Given the description of an element on the screen output the (x, y) to click on. 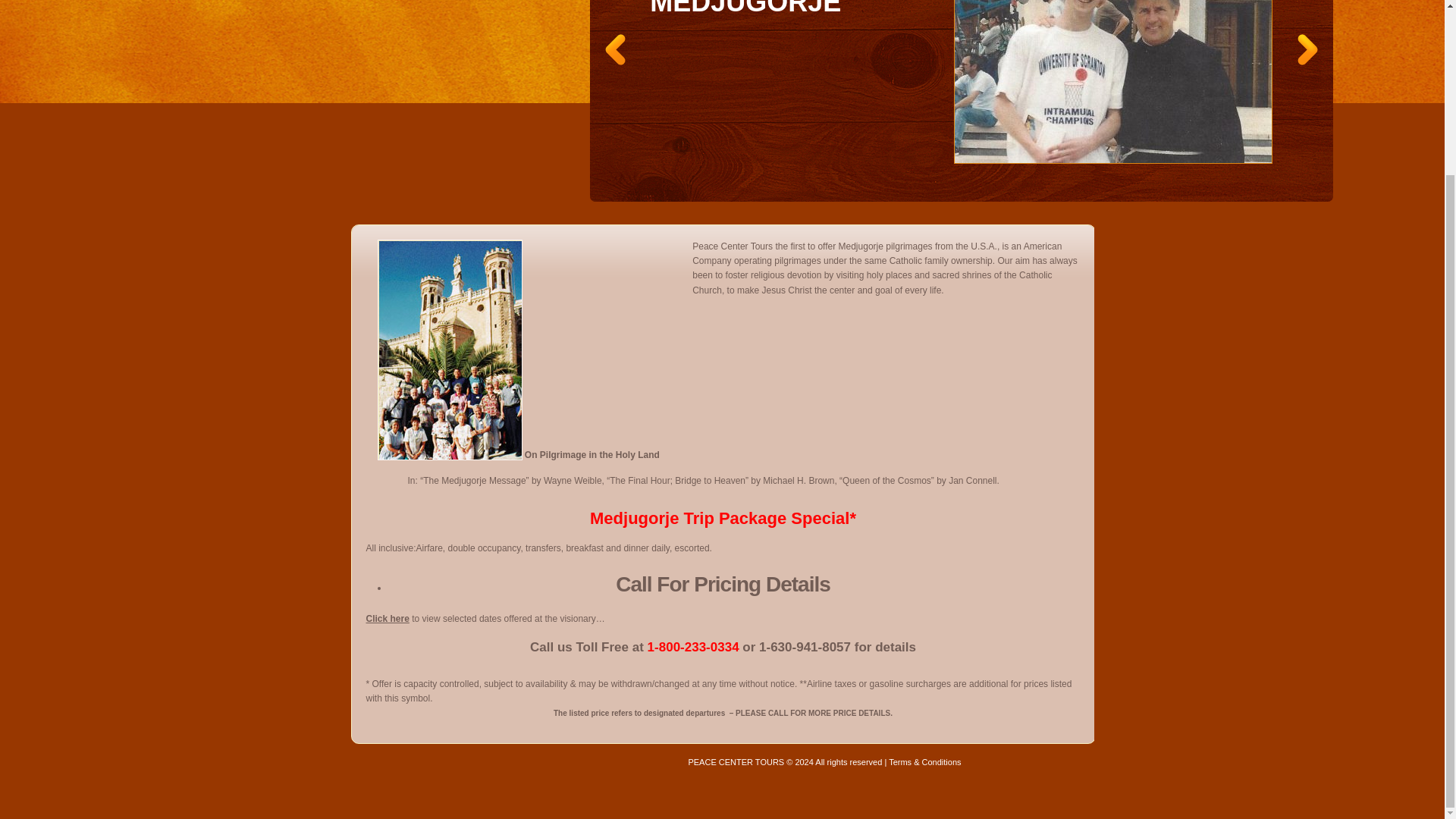
PEACE CENTER TOURS (735, 761)
Click here (387, 618)
MARTIN SHEEN IN MEDJUGORJE (770, 8)
Peace Center Tours (735, 761)
